Given the description of an element on the screen output the (x, y) to click on. 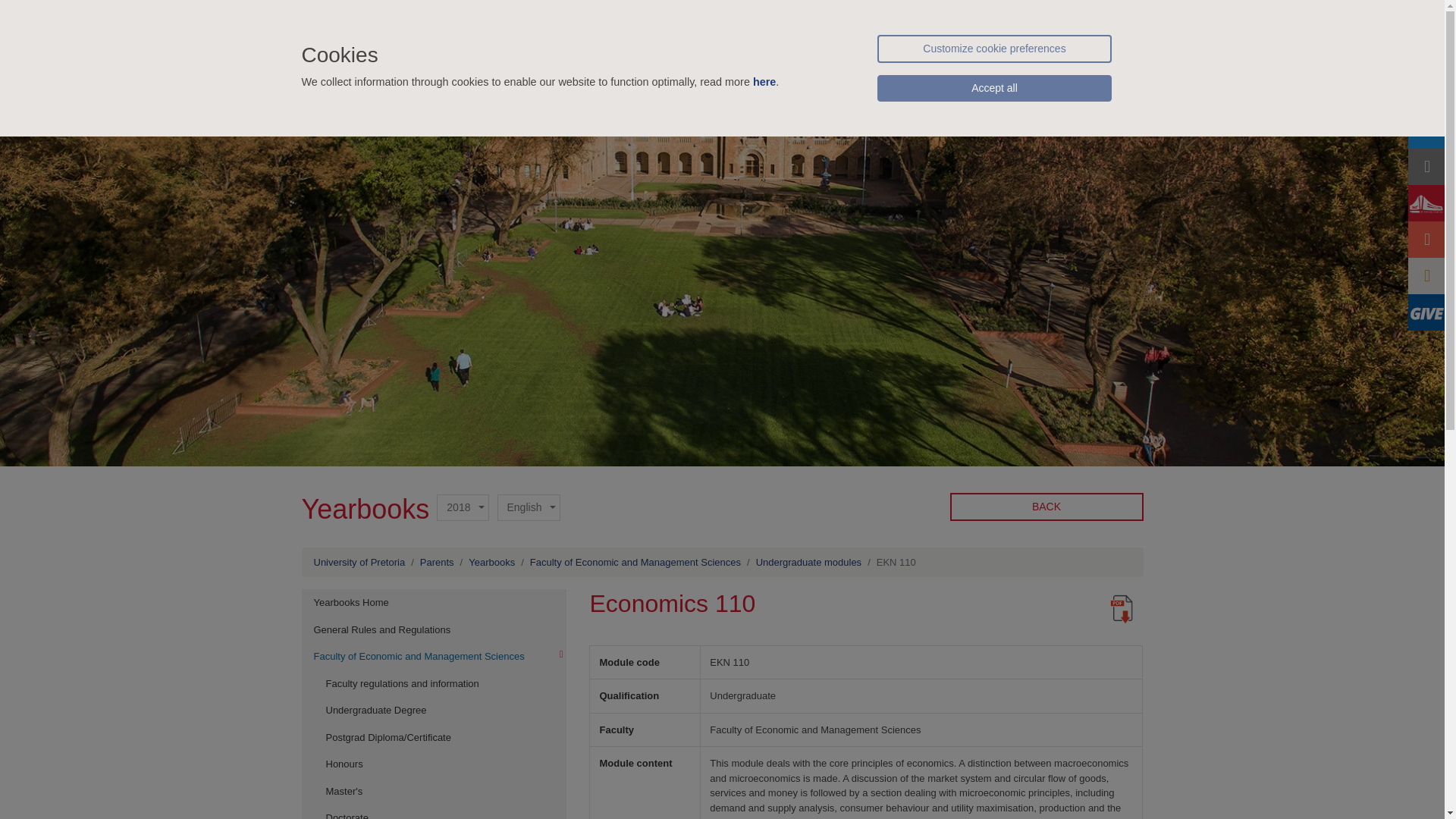
here (764, 81)
